Given the description of an element on the screen output the (x, y) to click on. 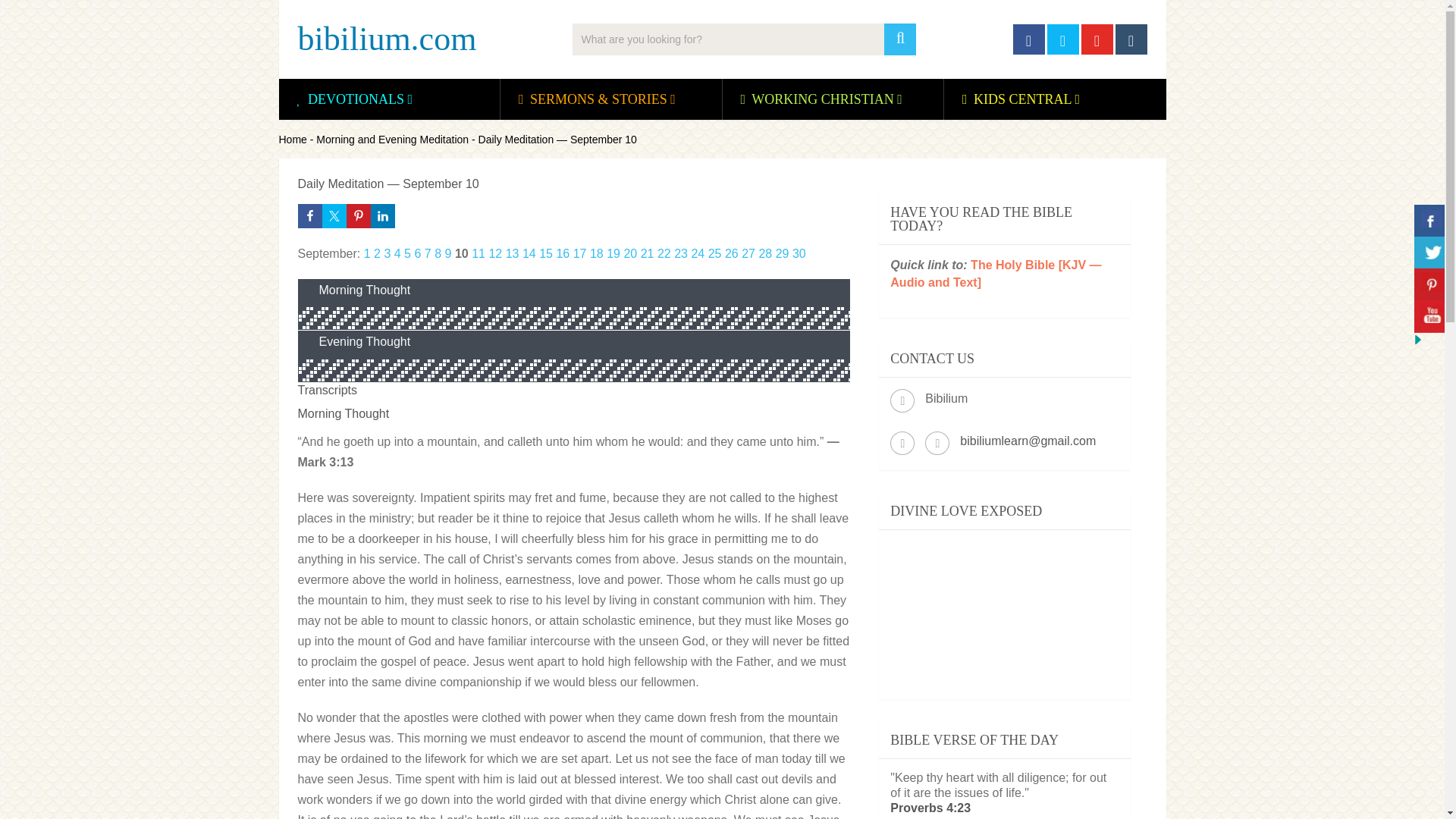
DEVOTIONALS (356, 98)
11 (477, 253)
Morning and Evening Meditation (391, 139)
20 (630, 253)
18 (596, 253)
WORKING CHRISTIAN (822, 98)
19 (613, 253)
Share on Pinterest (357, 215)
23 (680, 253)
13 (512, 253)
